Given the description of an element on the screen output the (x, y) to click on. 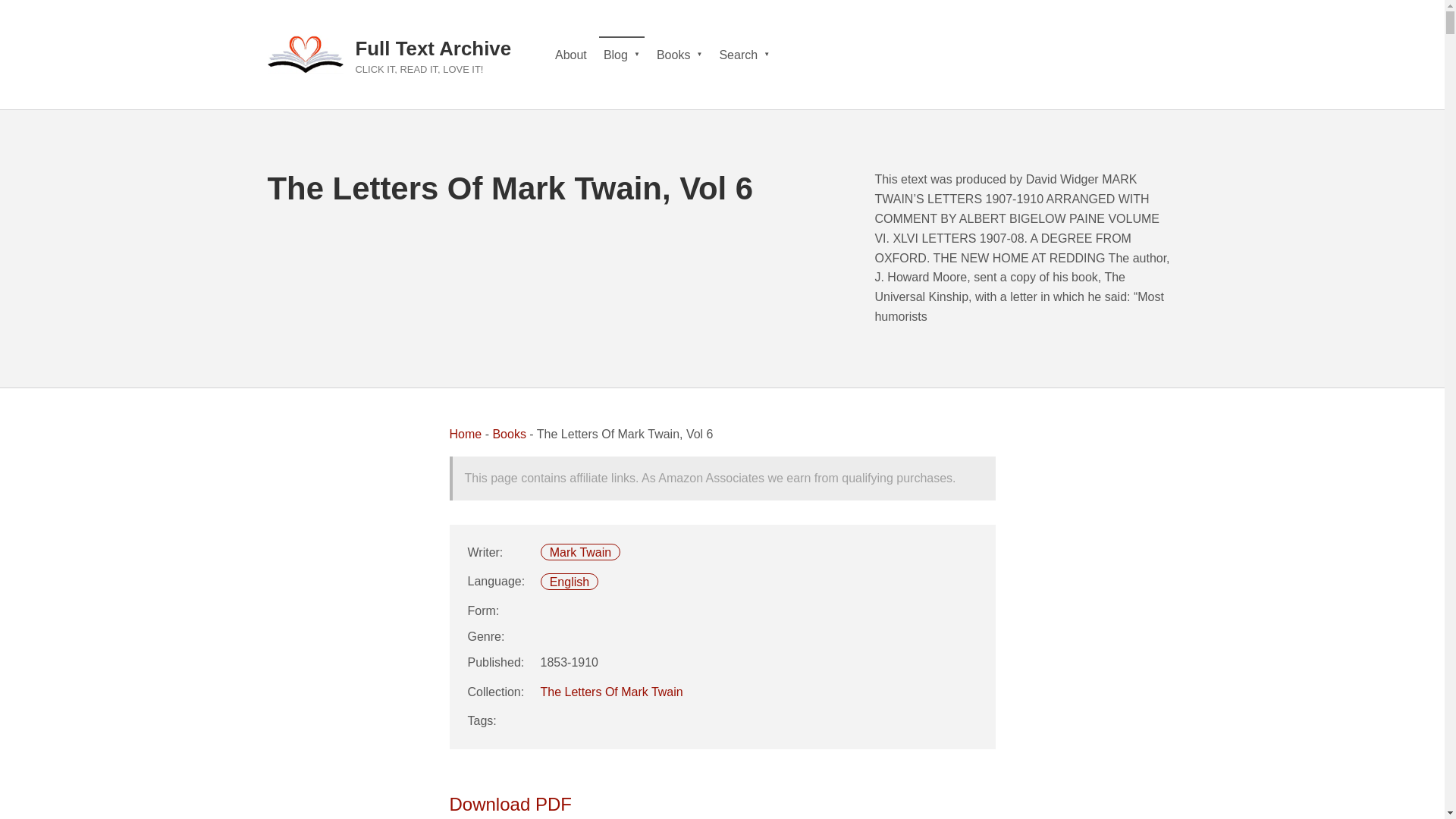
Full Text Archive (433, 47)
Home (464, 433)
About (570, 54)
Download The Letters Of Mark Twain, Vol 6 PDF file (509, 803)
Blog (621, 54)
Books (508, 433)
The Letters Of Mark Twain (611, 691)
Search (744, 54)
Books (679, 54)
English (569, 581)
Mark Twain (580, 552)
Download PDF (509, 803)
